Given the description of an element on the screen output the (x, y) to click on. 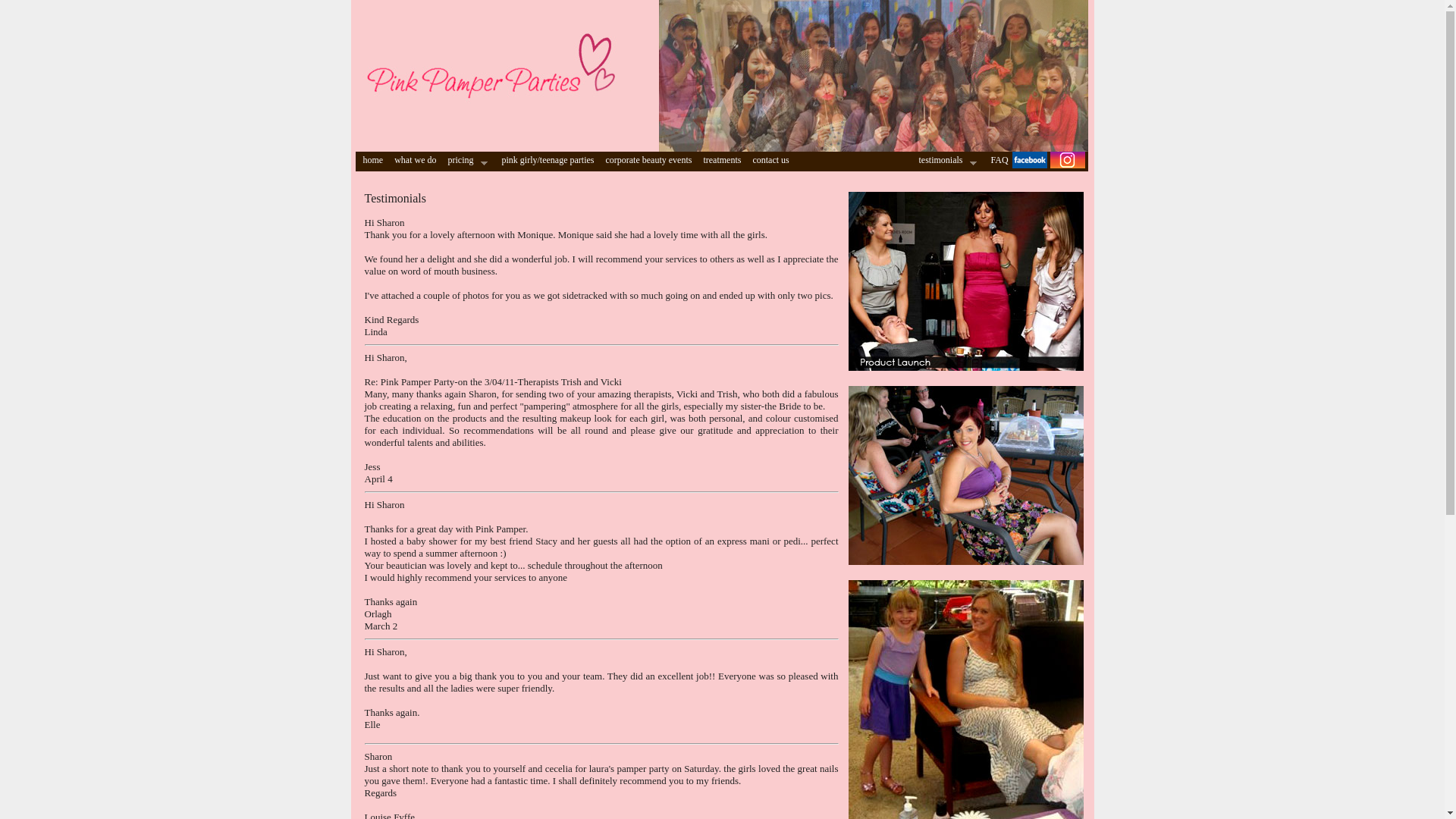
what we do Element type: text (412, 159)
pink girly/teenage parties Element type: text (546, 159)
contact us Element type: text (768, 159)
treatments Element type: text (719, 159)
home Element type: text (370, 159)
FAQ Element type: text (996, 159)
corporate beauty events Element type: text (646, 159)
